Given the description of an element on the screen output the (x, y) to click on. 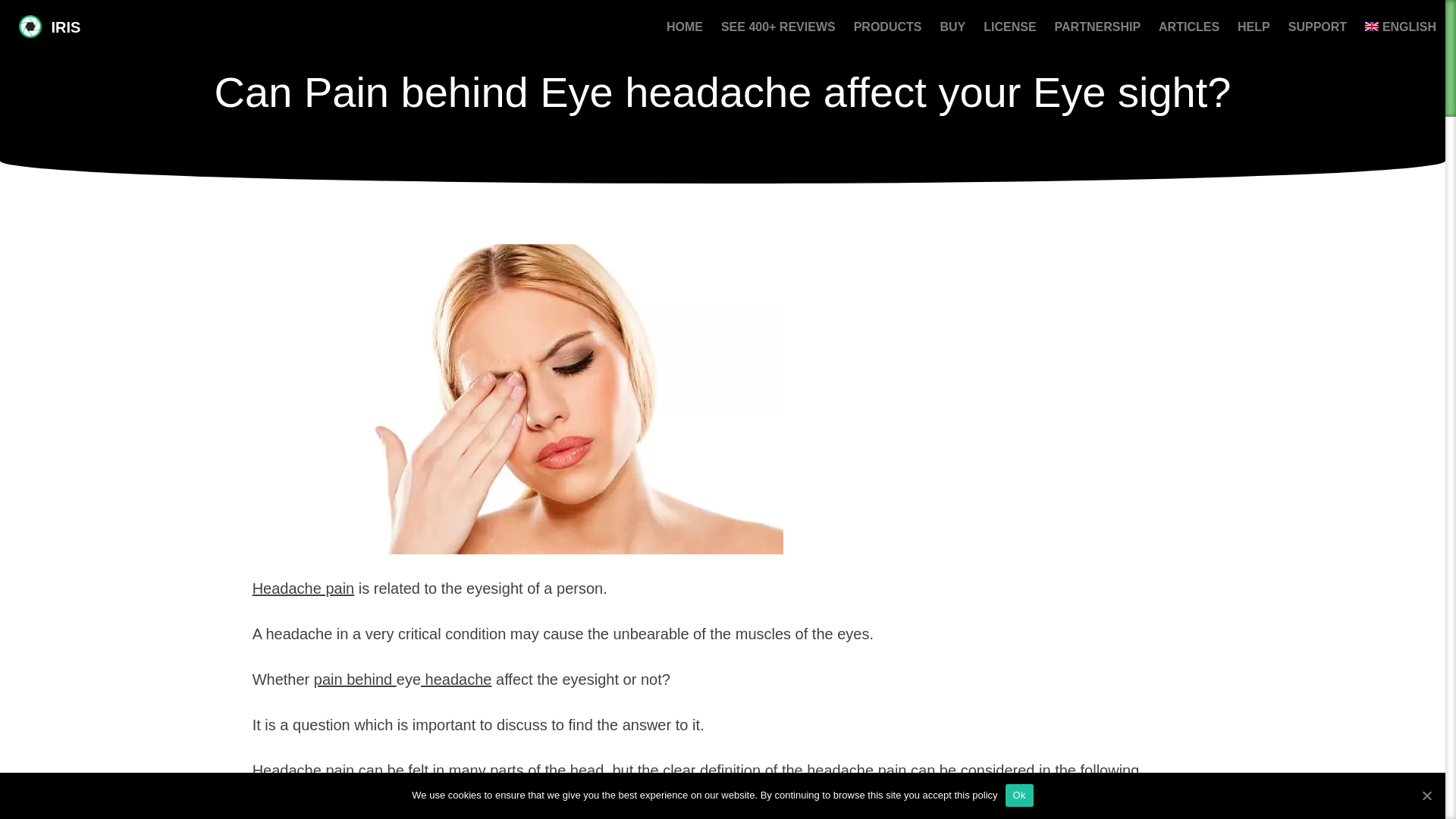
Headache pain (303, 588)
LICENSE (1009, 27)
IRIS (49, 26)
BUY (952, 27)
ARTICLES (1189, 27)
SUPPORT (1317, 27)
PRODUCTS (887, 27)
pain behind (355, 678)
HOME (684, 27)
PARTNERSHIP (1097, 27)
HELP (1253, 27)
